Given the description of an element on the screen output the (x, y) to click on. 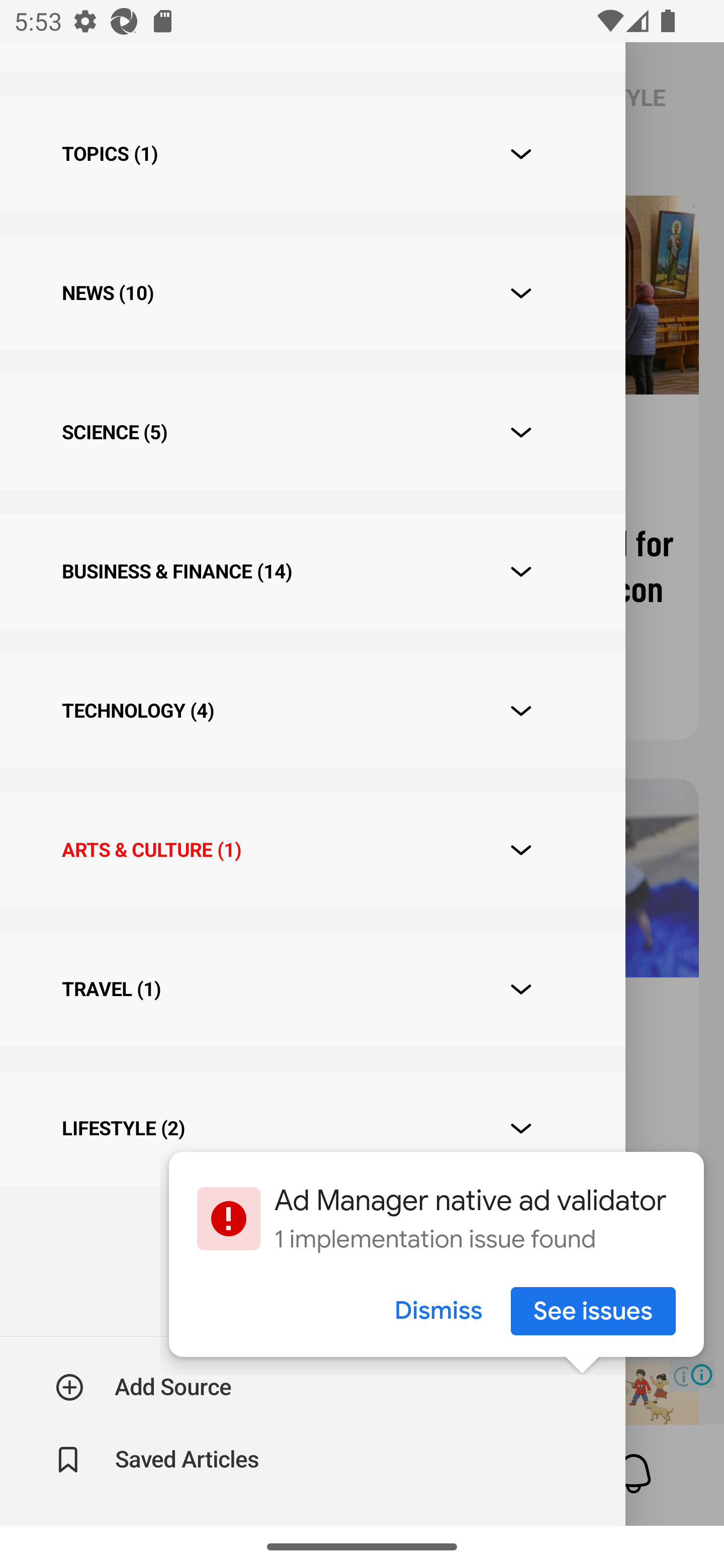
TOPICS  (1) Expand Button (312, 154)
Expand Button (521, 153)
NEWS  (10) Expand Button (312, 292)
Expand Button (521, 292)
SCIENCE  (5) Expand Button (312, 431)
Expand Button (521, 432)
BUSINESS & FINANCE  (14) Expand Button (312, 571)
Expand Button (521, 571)
TECHNOLOGY  (4) Expand Button (312, 710)
Expand Button (521, 710)
ARTS & CULTURE  (1) Expand Button (312, 849)
Expand Button (521, 849)
TRAVEL  (1) Expand Button (312, 988)
Expand Button (521, 989)
LIFESTYLE  (2) Expand Button (312, 1127)
Expand Button (521, 1128)
Open Content Store Add Source (143, 1387)
Open Saved News  Saved Articles (158, 1459)
